Given the description of an element on the screen output the (x, y) to click on. 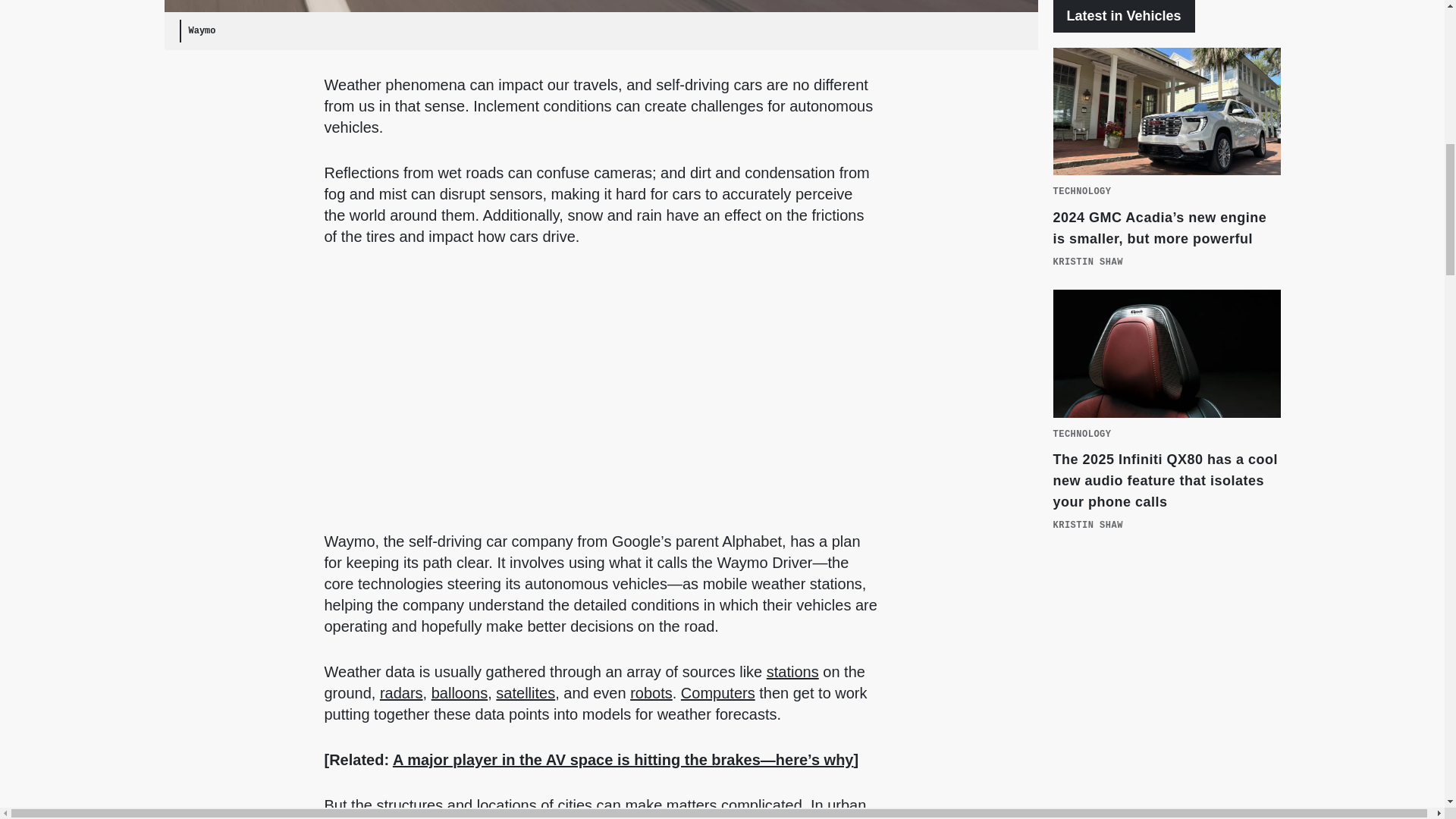
3rd party ad content (1165, 689)
